Given the description of an element on the screen output the (x, y) to click on. 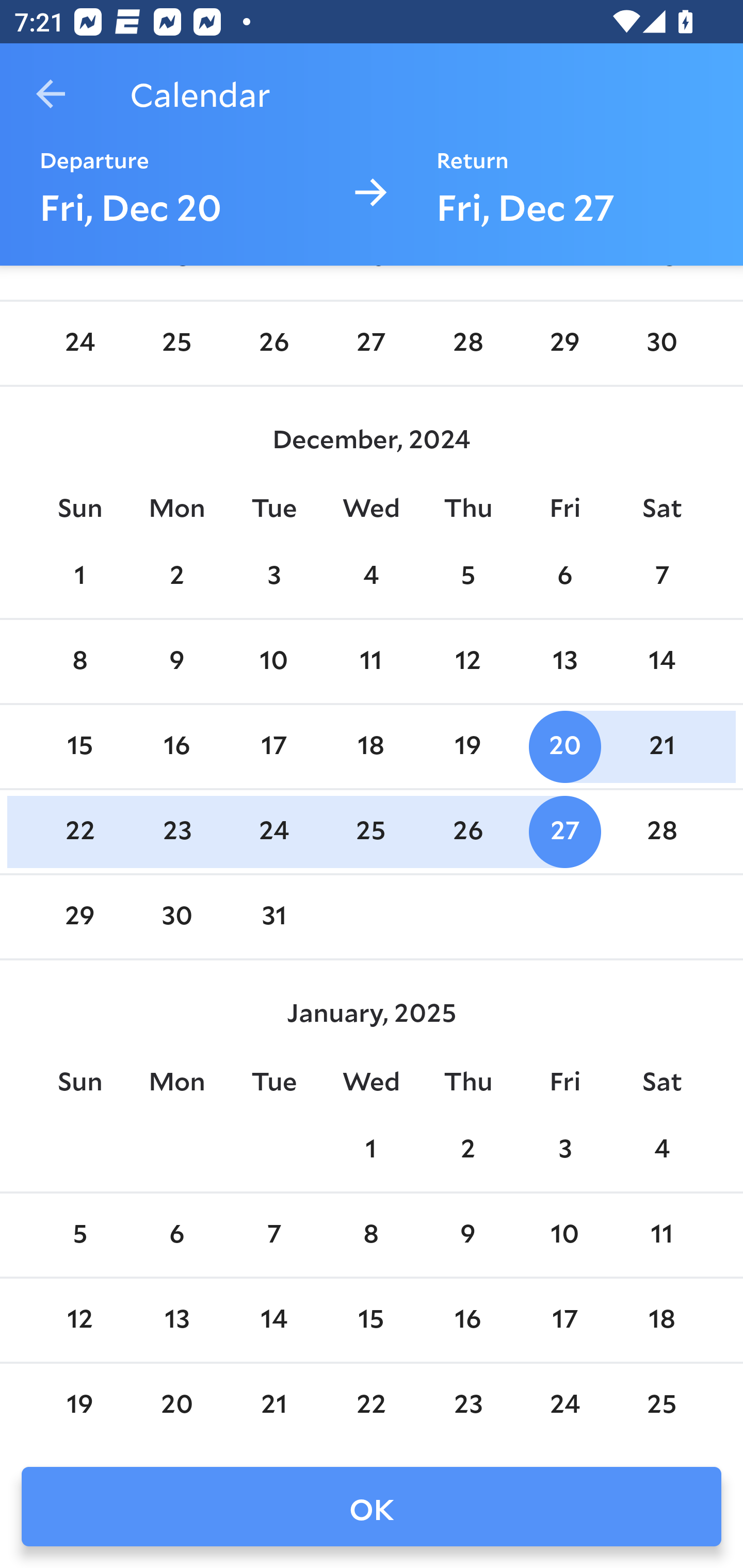
Navigate up (50, 93)
24 (79, 343)
25 (177, 343)
26 (273, 343)
27 (371, 343)
28 (467, 343)
29 (565, 343)
30 (661, 343)
1 (79, 576)
2 (177, 576)
3 (273, 576)
4 (371, 576)
5 (467, 576)
6 (565, 576)
7 (661, 576)
8 (79, 661)
9 (177, 661)
10 (273, 661)
11 (371, 661)
12 (467, 661)
13 (565, 661)
14 (661, 661)
15 (79, 746)
16 (177, 746)
17 (273, 746)
18 (371, 746)
19 (467, 746)
20 (565, 746)
21 (661, 746)
22 (79, 832)
23 (177, 832)
24 (273, 832)
25 (371, 832)
26 (467, 832)
27 (565, 832)
28 (661, 832)
29 (79, 917)
30 (177, 917)
31 (273, 917)
1 (371, 1150)
2 (467, 1150)
3 (565, 1150)
4 (661, 1150)
5 (79, 1235)
6 (177, 1235)
7 (273, 1235)
8 (371, 1235)
9 (467, 1235)
10 (565, 1235)
11 (661, 1235)
